Given the description of an element on the screen output the (x, y) to click on. 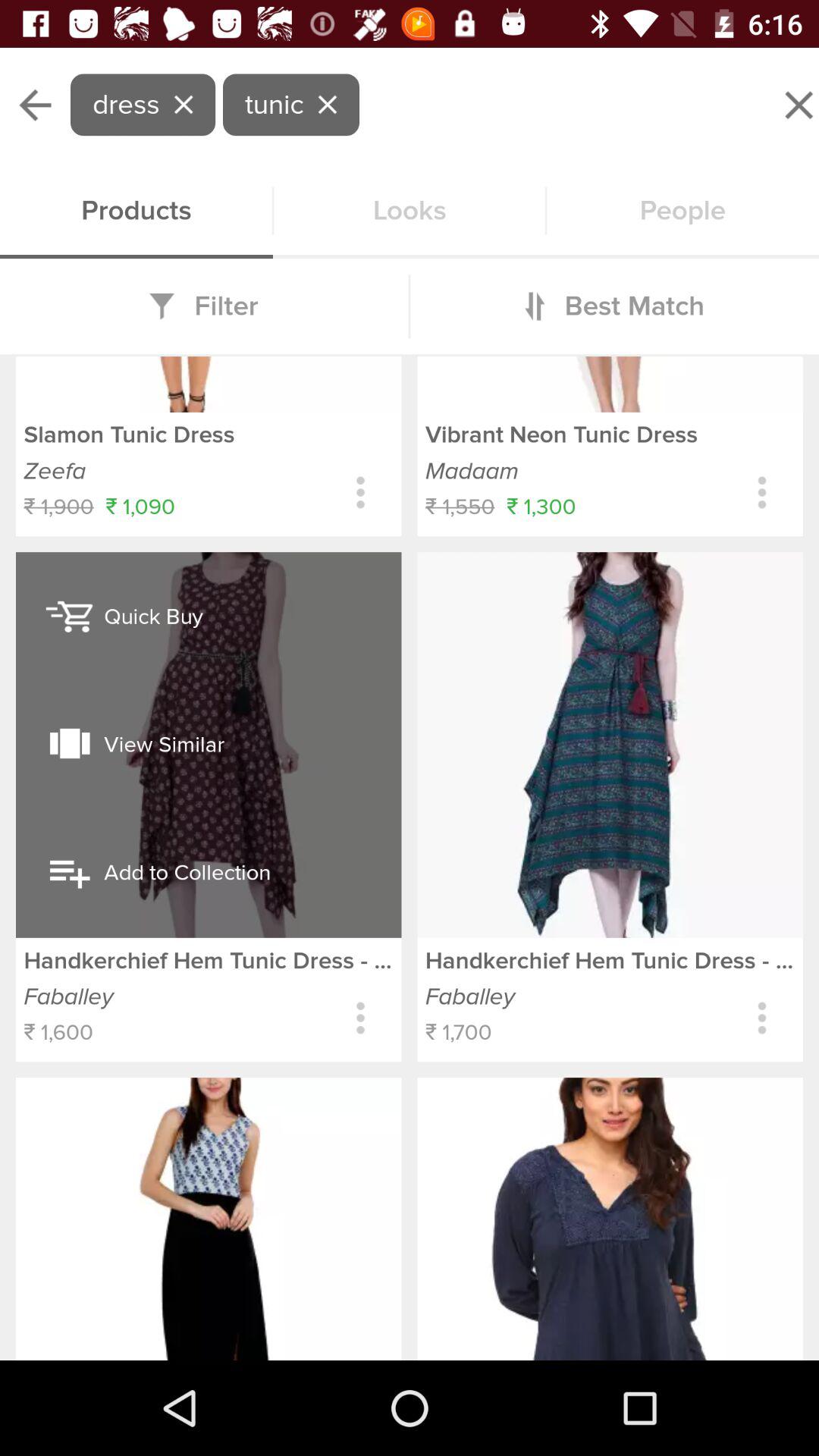
get more options (360, 492)
